Given the description of an element on the screen output the (x, y) to click on. 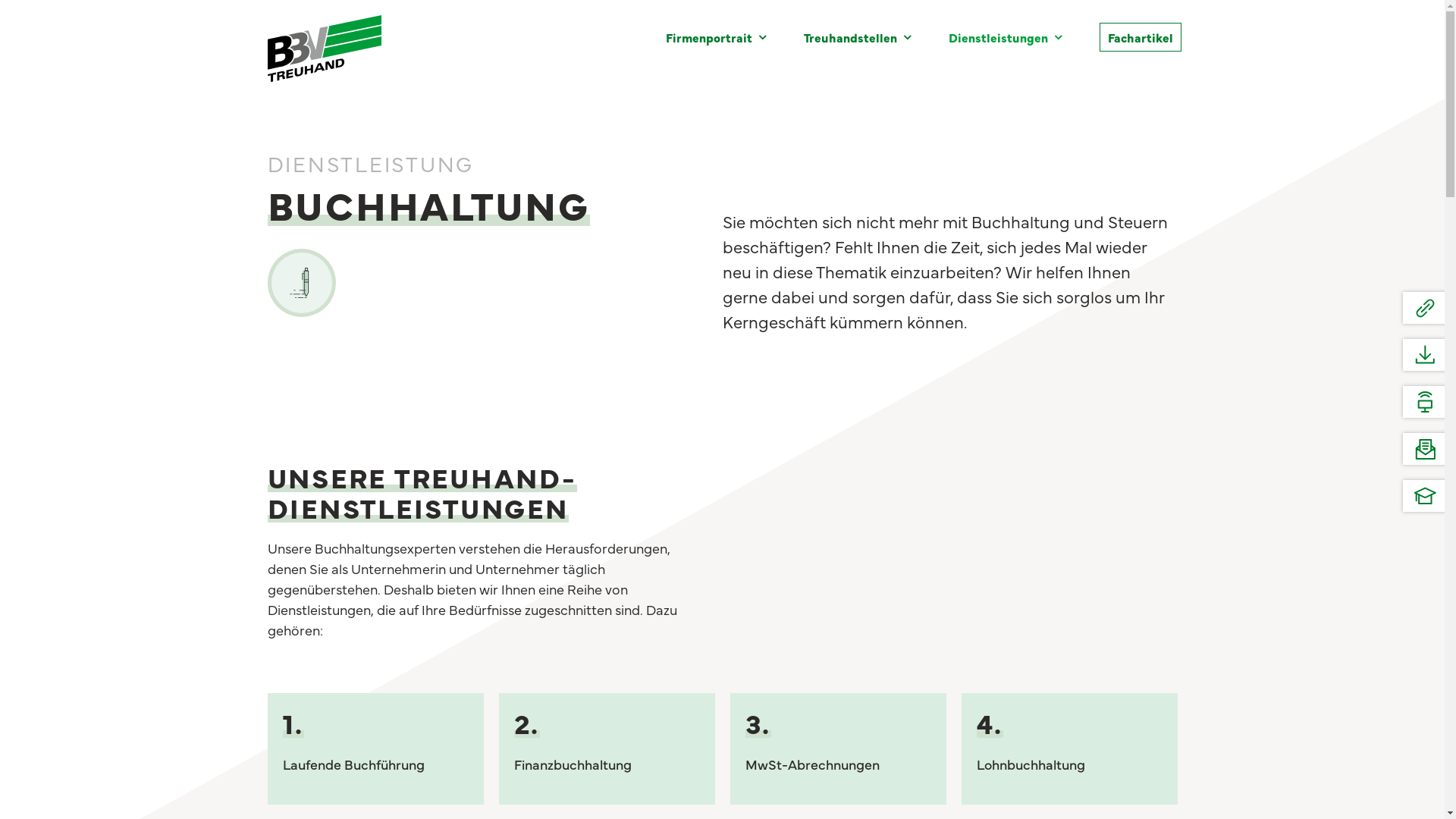
Fachartikel Element type: text (1140, 36)
BBV_Icon_Buchhaltung_Buchhaltung Element type: hover (300, 282)
BBV_Quicklink_Newsletter Element type: hover (1424, 448)
Treuhandstellen Element type: text (856, 37)
Firmenportrait Element type: text (715, 37)
BBV_Quicklink_Links Element type: hover (1424, 307)
BBV_Quicklink_Kurse Element type: hover (1424, 495)
BBV_Quicklink_Downloads Element type: hover (1424, 354)
BBV_Quicklink_Fernwartung Element type: hover (1424, 401)
Dienstleistungen Element type: text (1003, 37)
